Given the description of an element on the screen output the (x, y) to click on. 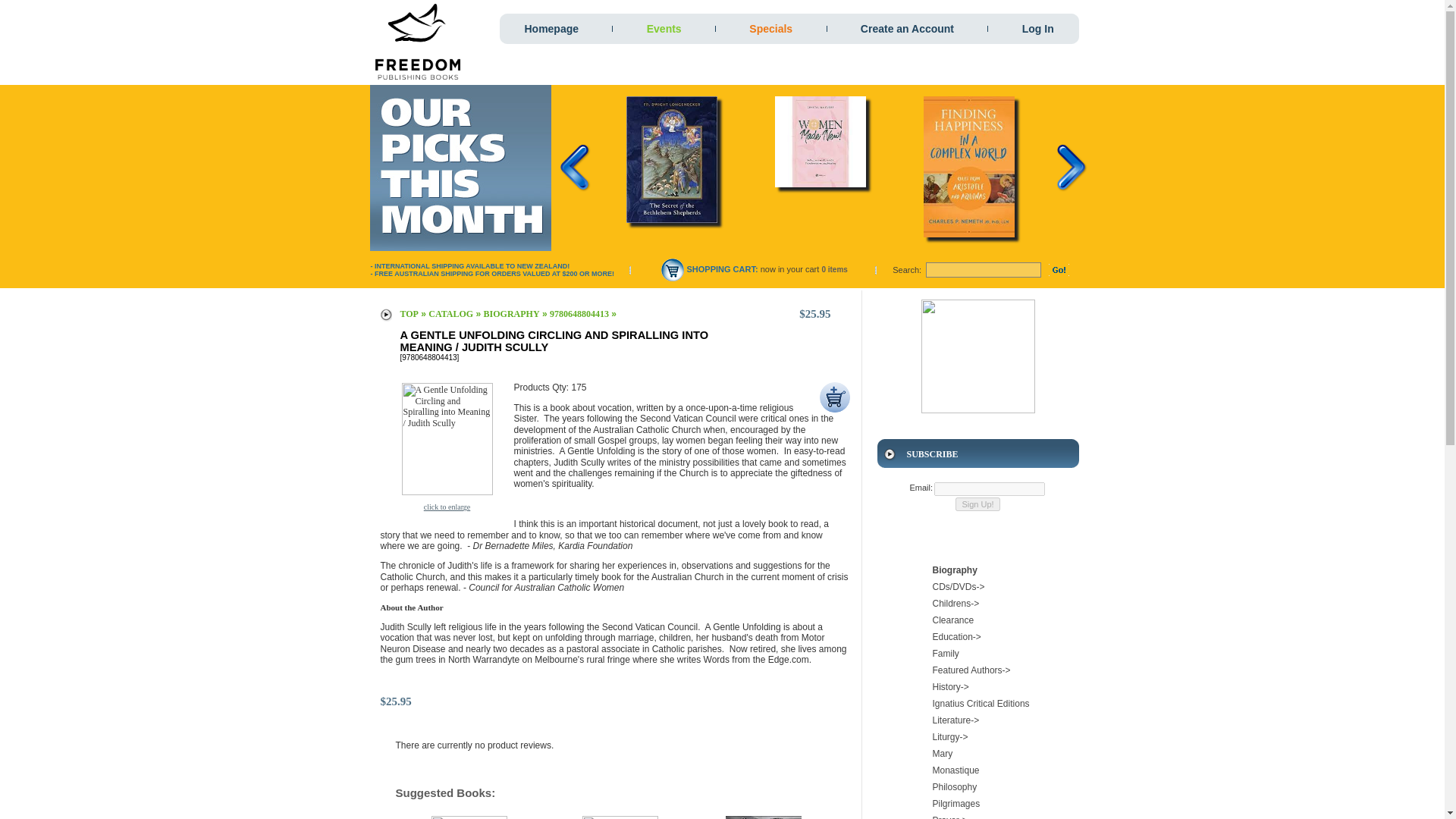
9780648804413 (579, 313)
Specials (770, 28)
Events (663, 28)
CATALOG (450, 313)
Our Picks This Month (460, 167)
click to enlarge (446, 507)
Create an Account (906, 28)
Sign Up! (976, 504)
Family (977, 653)
Ignatius Critical Editions (977, 703)
Biography (977, 569)
TOP (409, 313)
Sign Up! (976, 504)
BIOGRAPHY (511, 313)
